Given the description of an element on the screen output the (x, y) to click on. 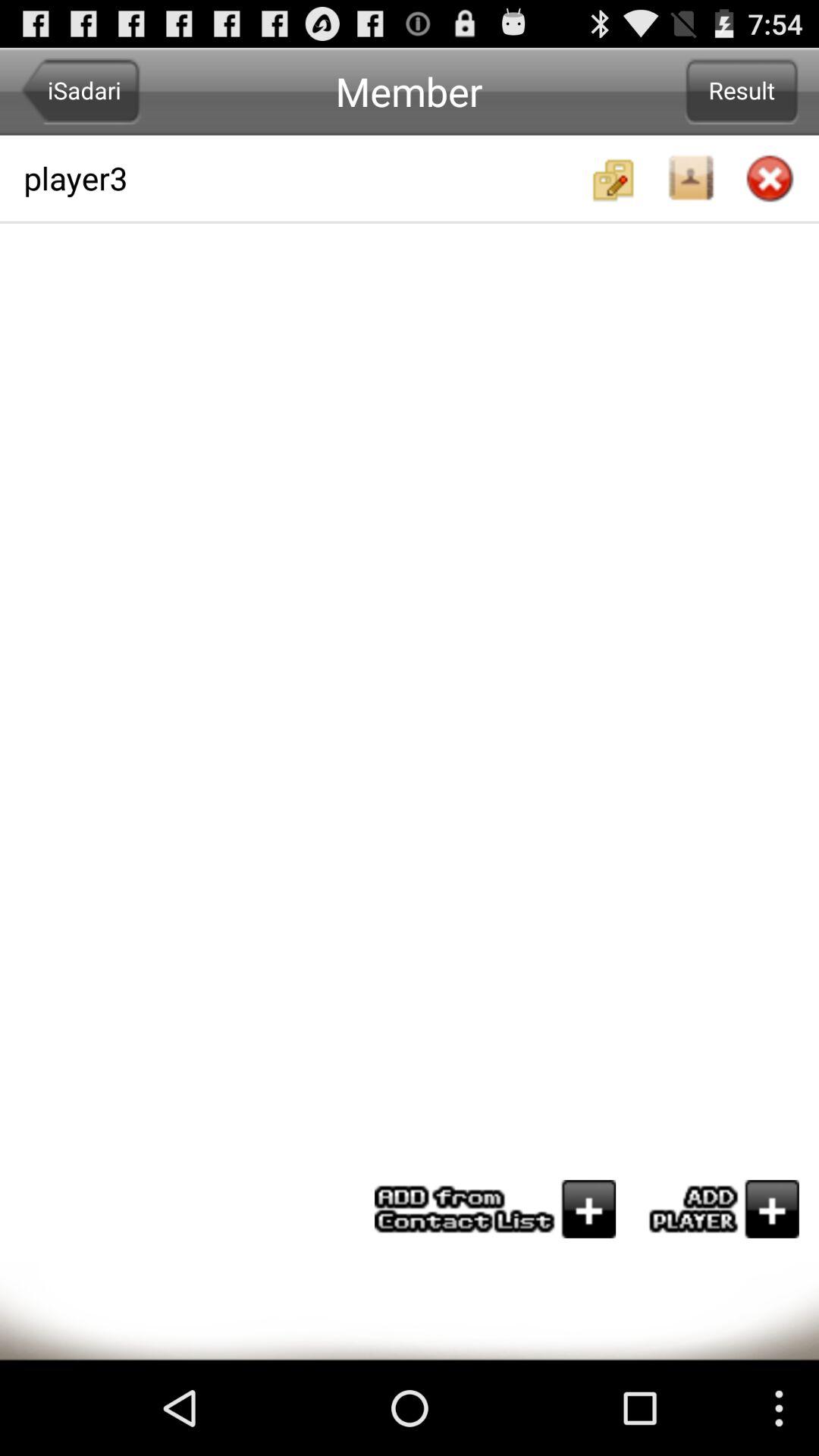
select add from contact list (494, 1209)
